Given the description of an element on the screen output the (x, y) to click on. 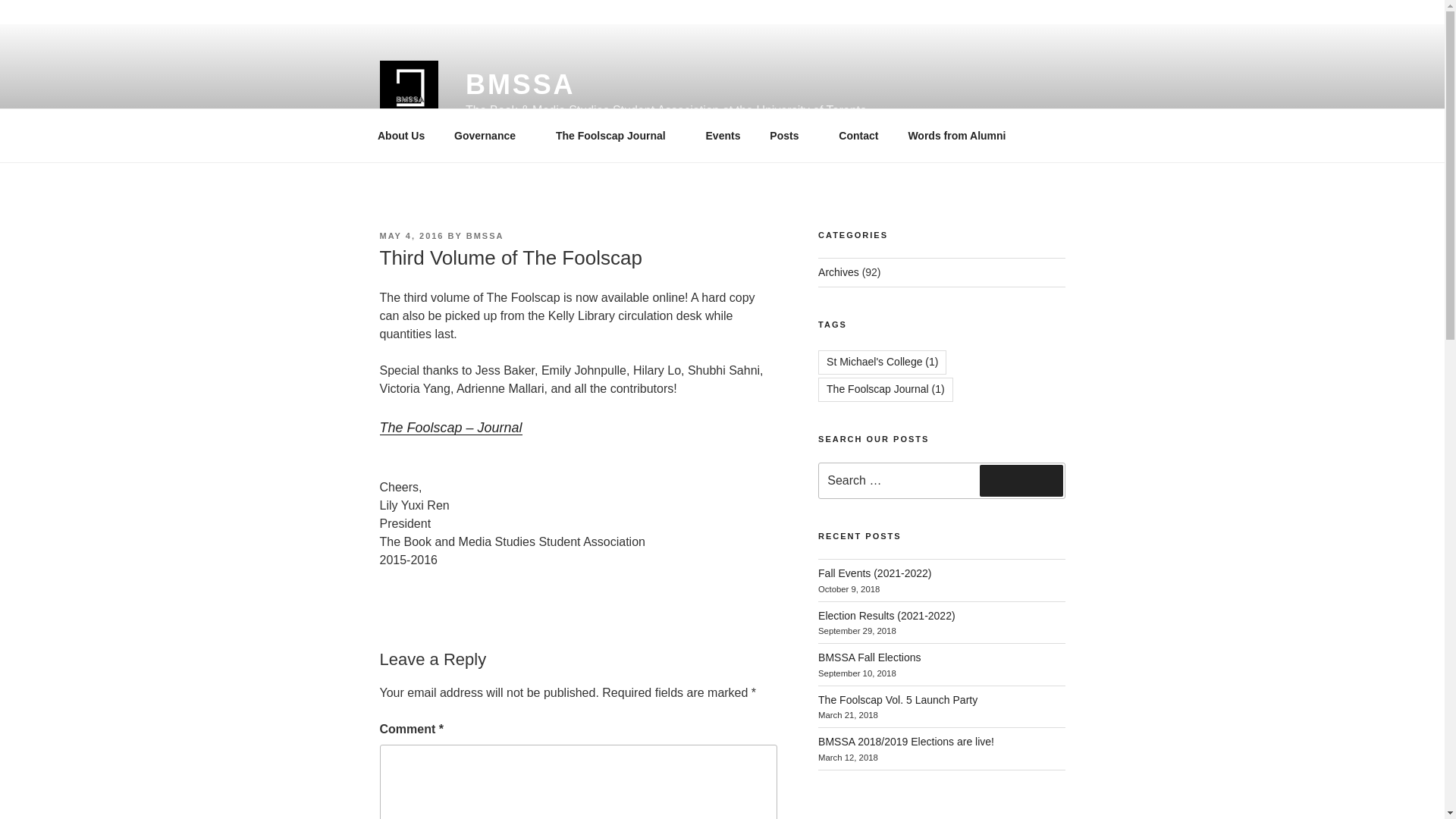
BMSSA (484, 235)
The Foolscap Vol. 5 Launch Party (897, 699)
Search (1020, 480)
BMSSA (520, 83)
Events (723, 135)
Posts (789, 135)
Governance (490, 135)
BMSSA Fall Elections (869, 657)
Archives (838, 272)
Contact (858, 135)
MAY 4, 2016 (411, 235)
The Foolscap Journal (614, 135)
Words from Alumni (957, 135)
About Us (401, 135)
